Given the description of an element on the screen output the (x, y) to click on. 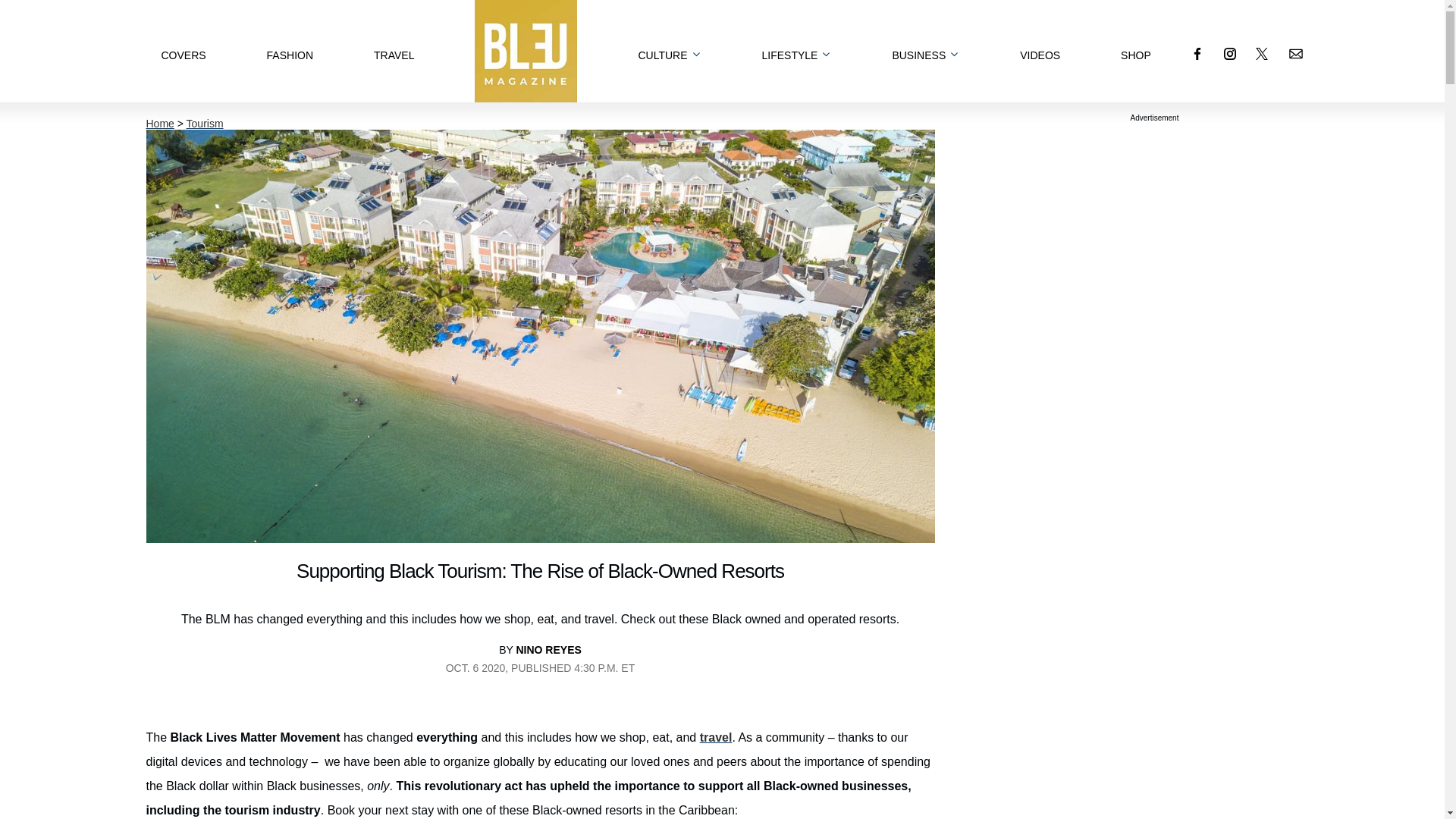
LINK TO X (1261, 53)
VIDEOS (1039, 50)
LINK TO FACEBOOK (1197, 53)
TRAVEL (393, 50)
COVERS (182, 50)
FASHION (289, 50)
LINK TO INSTAGRAM (1230, 53)
LINK TO EMAIL SUBSCRIBE (1295, 53)
